Given the description of an element on the screen output the (x, y) to click on. 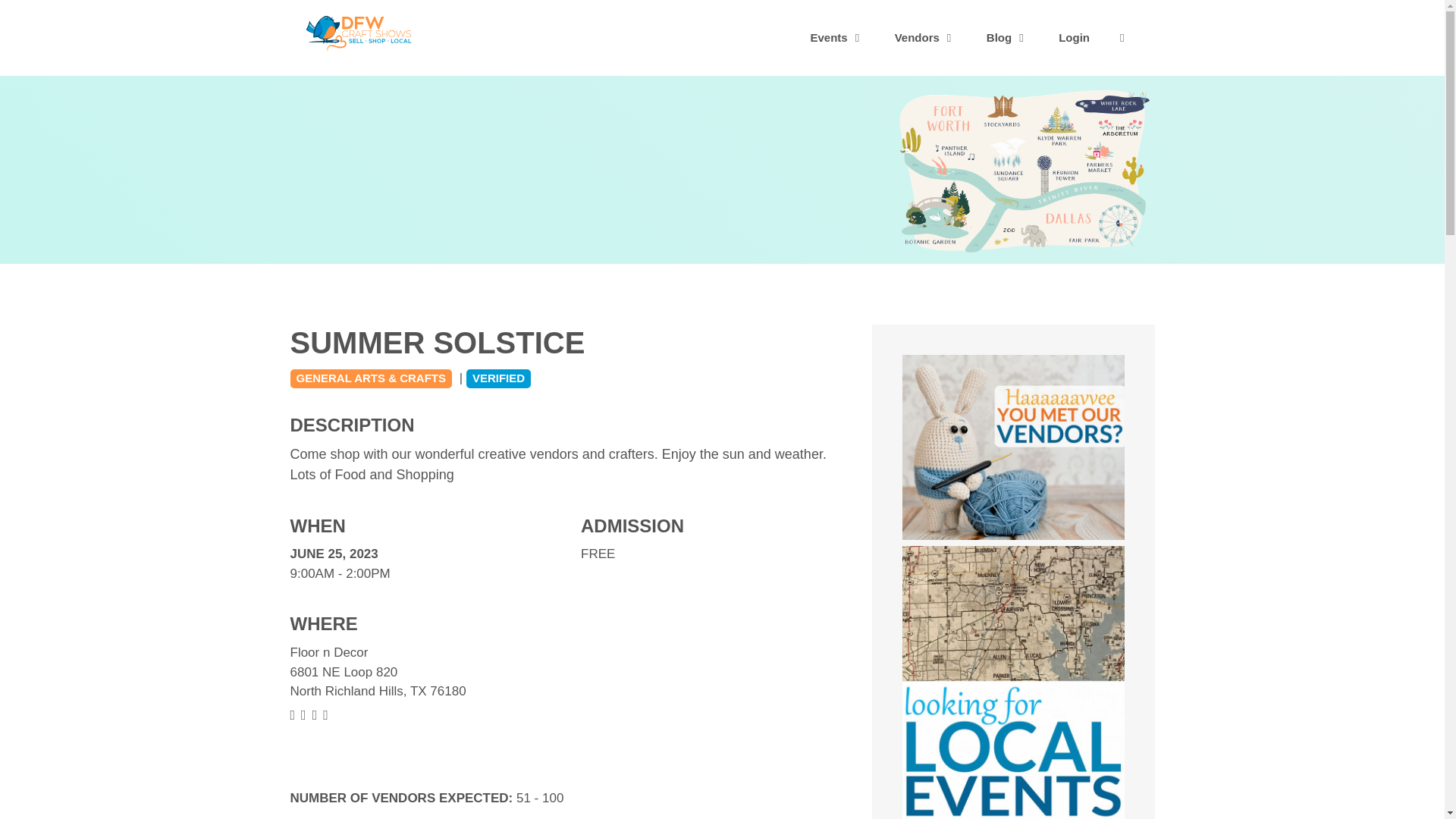
Blog (1007, 37)
Login (1074, 37)
Vendors (925, 37)
Events (836, 37)
